Given the description of an element on the screen output the (x, y) to click on. 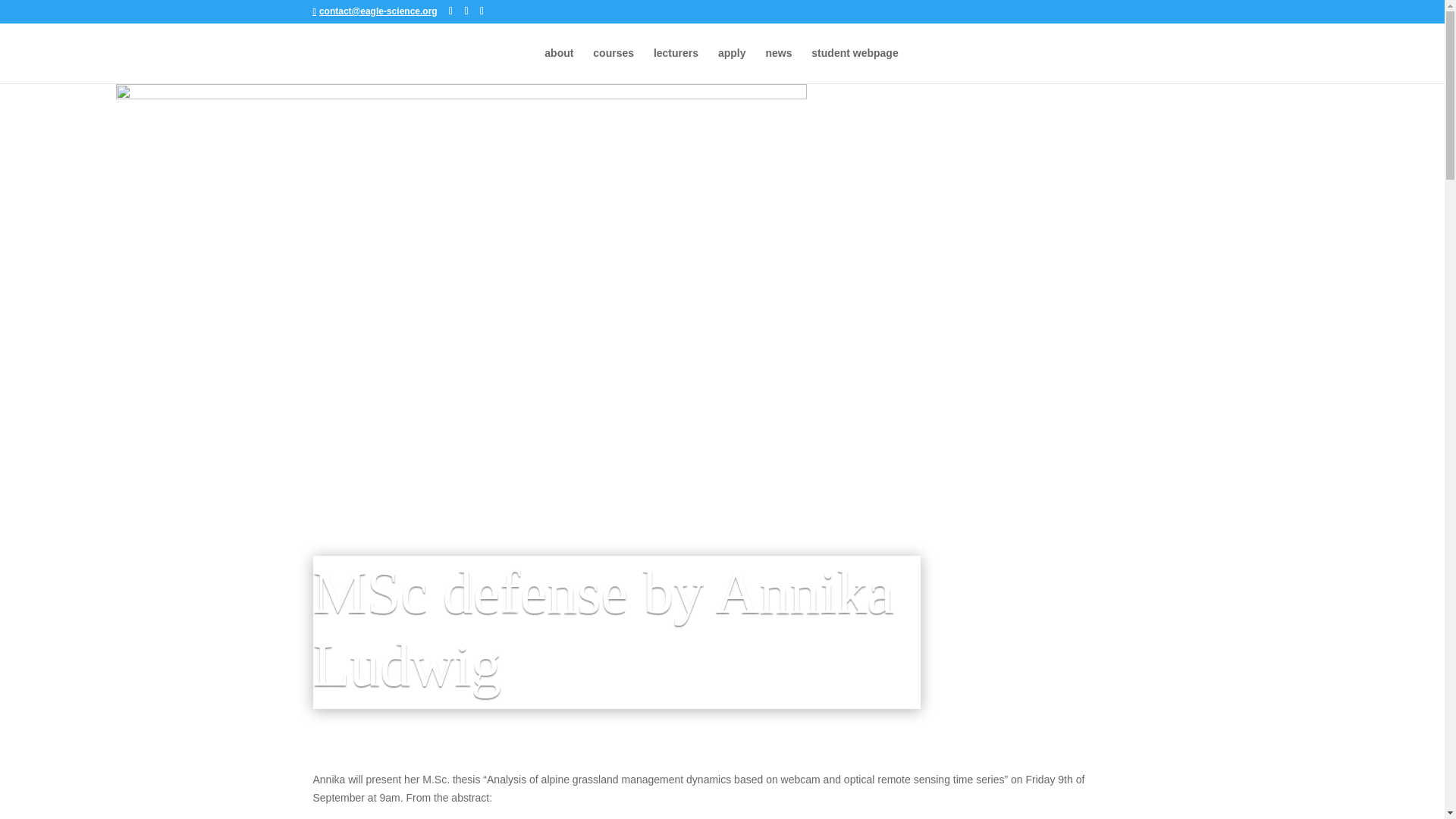
student webpage (854, 65)
courses (612, 65)
lecturers (675, 65)
